Given the description of an element on the screen output the (x, y) to click on. 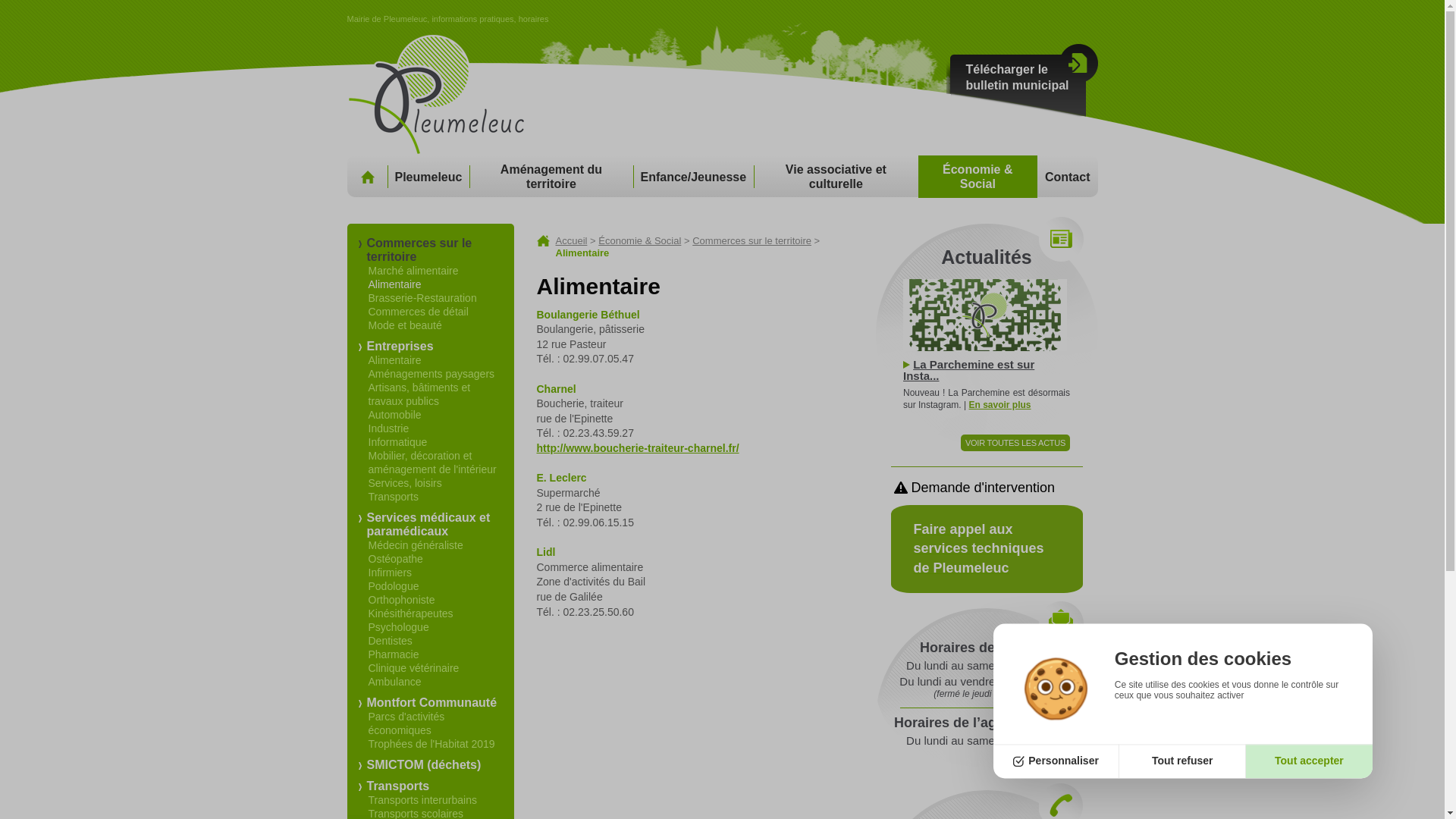
En savoir plus Element type: text (999, 404)
VOIR TOUTES LES ACTUS Element type: text (1015, 442)
Tout accepter Element type: text (1308, 760)
Accueil Element type: text (367, 176)
http://www.boucherie-traiteur-charnel.fr/ Element type: text (637, 448)
Psychologue Element type: text (398, 627)
Transports Element type: text (398, 785)
Orthophoniste Element type: text (401, 599)
Faire appel aux services techniques de Pleumeleuc Element type: text (986, 549)
Pleumeleuc Element type: text (427, 176)
Commerces sur le territoire Element type: text (751, 240)
Dentistes Element type: text (390, 640)
Personnaliser Element type: text (1056, 760)
Services, loisirs Element type: text (405, 482)
Alimentaire Element type: text (394, 284)
Commerces sur le territoire Element type: text (419, 249)
Brasserie-Restauration Element type: text (422, 297)
Accueil Element type: text (570, 240)
Industrie Element type: text (388, 428)
Vie associative et culturelle Element type: text (835, 176)
Ambulance Element type: text (394, 681)
Automobile Element type: text (394, 414)
Contact Element type: text (1067, 176)
Podologue Element type: text (393, 586)
Transports Element type: text (393, 496)
Infirmiers Element type: text (390, 572)
La Parchemine est sur Insta... Element type: text (968, 369)
Pharmacie Element type: text (393, 654)
Tout refuser Element type: text (1182, 760)
Enfance/Jeunesse Element type: text (693, 176)
Informatique Element type: text (397, 442)
Entreprises Element type: text (400, 345)
Transports interurbains Element type: text (422, 799)
Alimentaire Element type: text (394, 360)
